Given the description of an element on the screen output the (x, y) to click on. 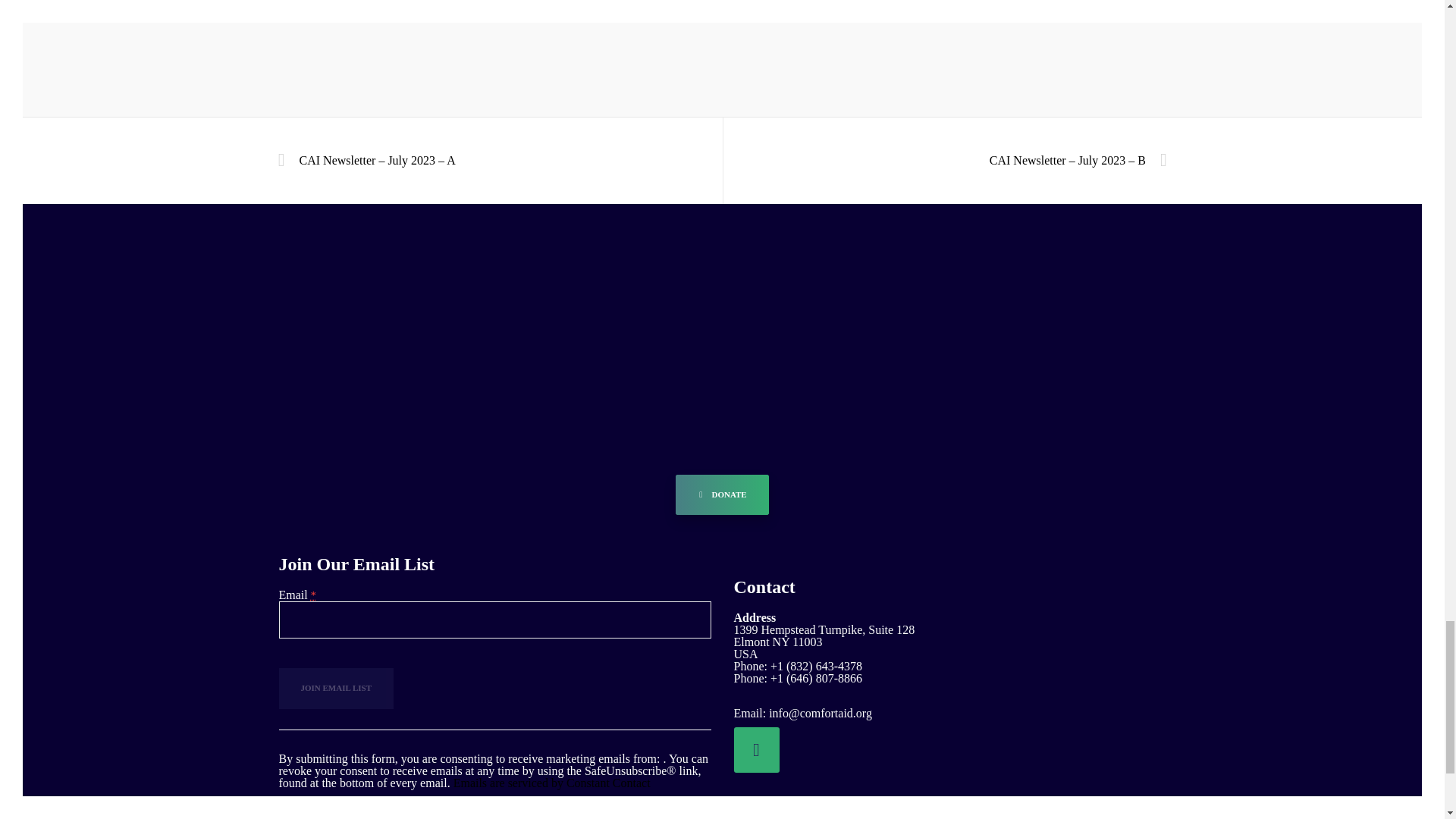
Emails are serviced by Constant Contact (551, 782)
DONATE (721, 495)
required (313, 594)
Join Email List (336, 688)
Join Email List (336, 688)
